Given the description of an element on the screen output the (x, y) to click on. 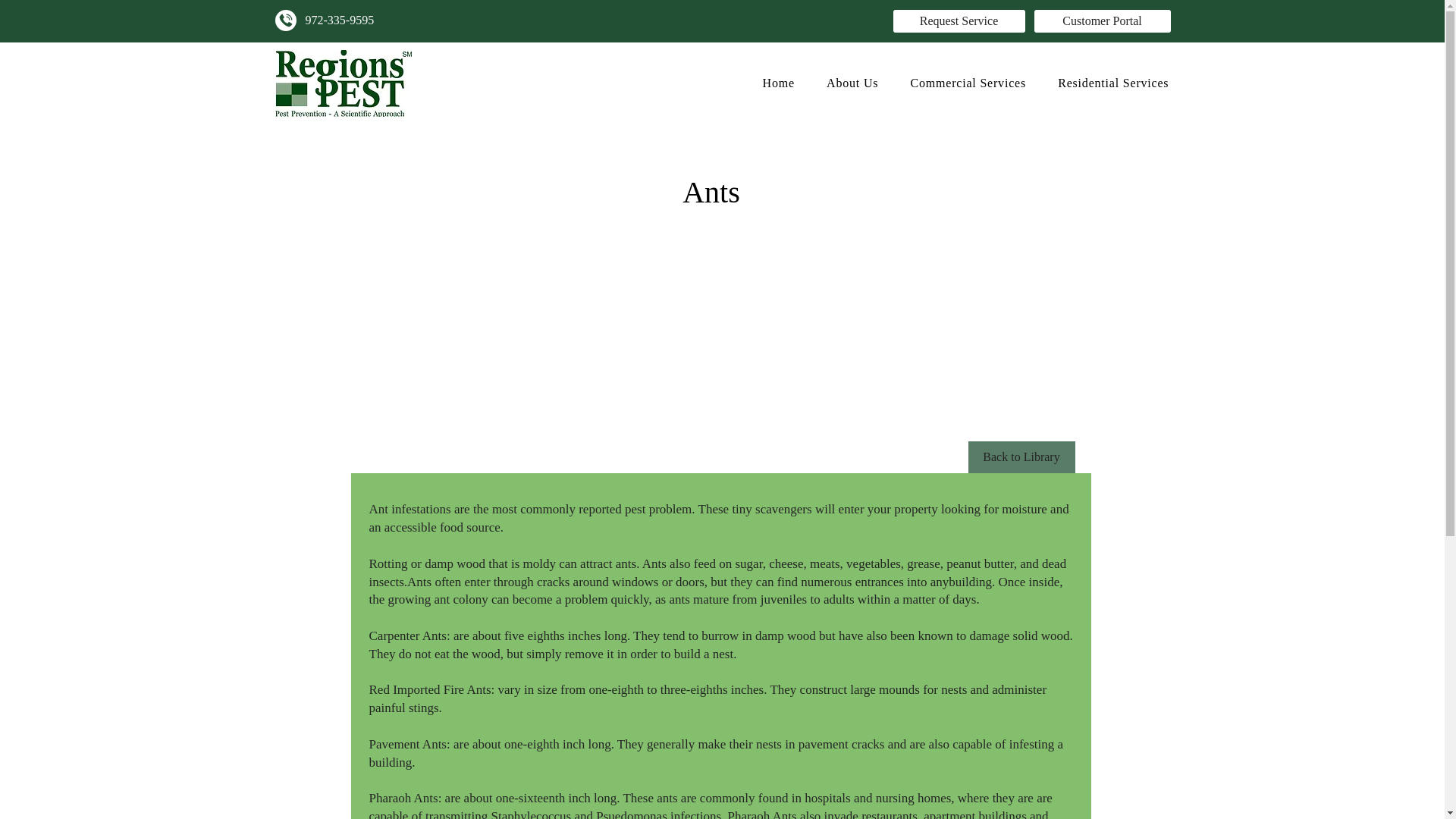
Request Service (959, 20)
About Us (852, 82)
Back to Library (1021, 457)
972-335-9595 (339, 19)
Commercial Services (967, 82)
Home (778, 82)
Residential Services (1112, 82)
Customer Portal (1101, 20)
